Given the description of an element on the screen output the (x, y) to click on. 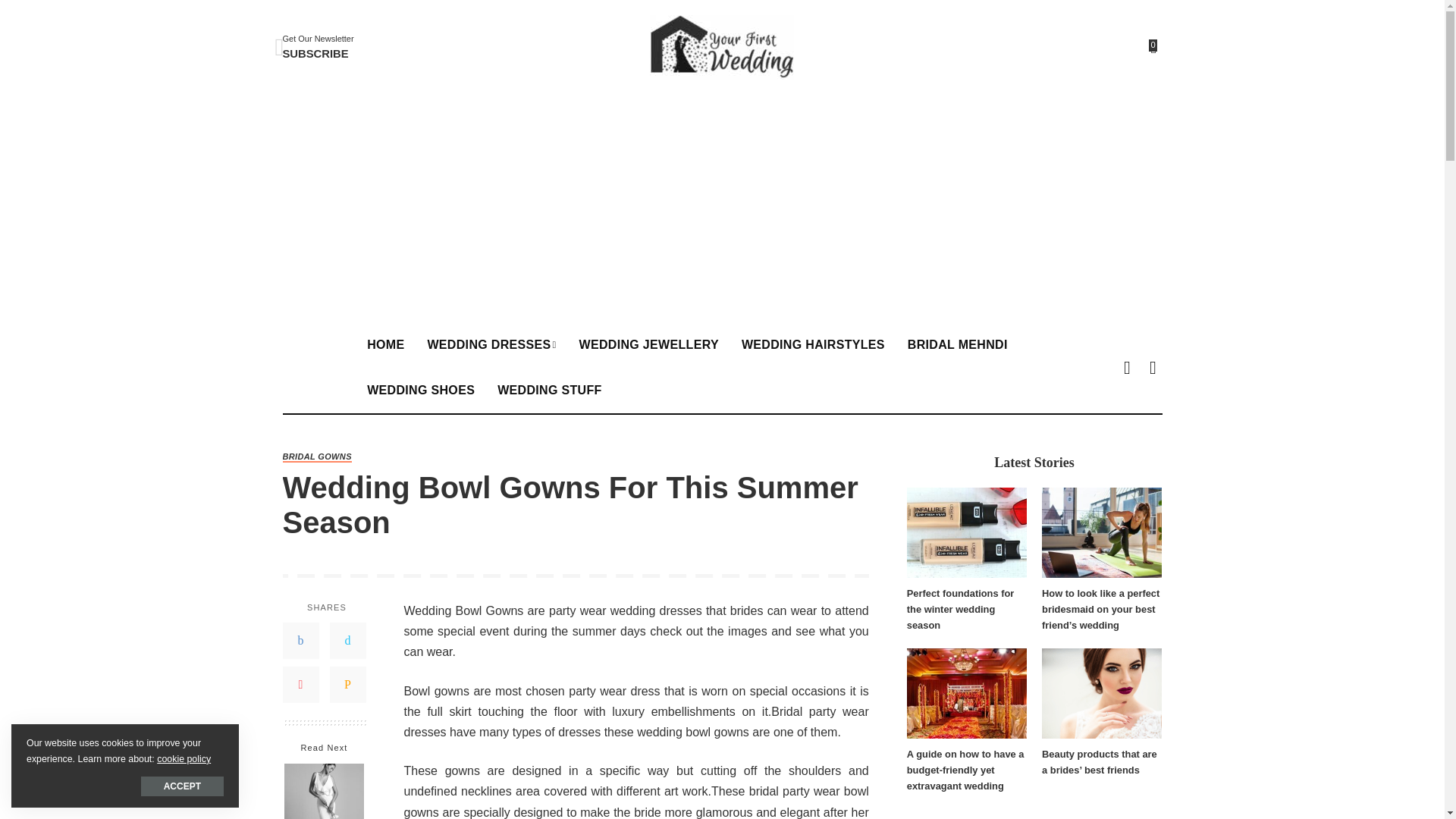
Yourfirstwedding.com (721, 47)
WEDDING STUFF (549, 390)
BRIDAL MEHNDI (957, 344)
Facebook (300, 640)
WEDDING SHOES (420, 390)
WEDDING JEWELLERY (648, 344)
HOME (384, 344)
WEDDING DRESSES (490, 344)
WEDDING HAIRSTYLES (317, 47)
